Given the description of an element on the screen output the (x, y) to click on. 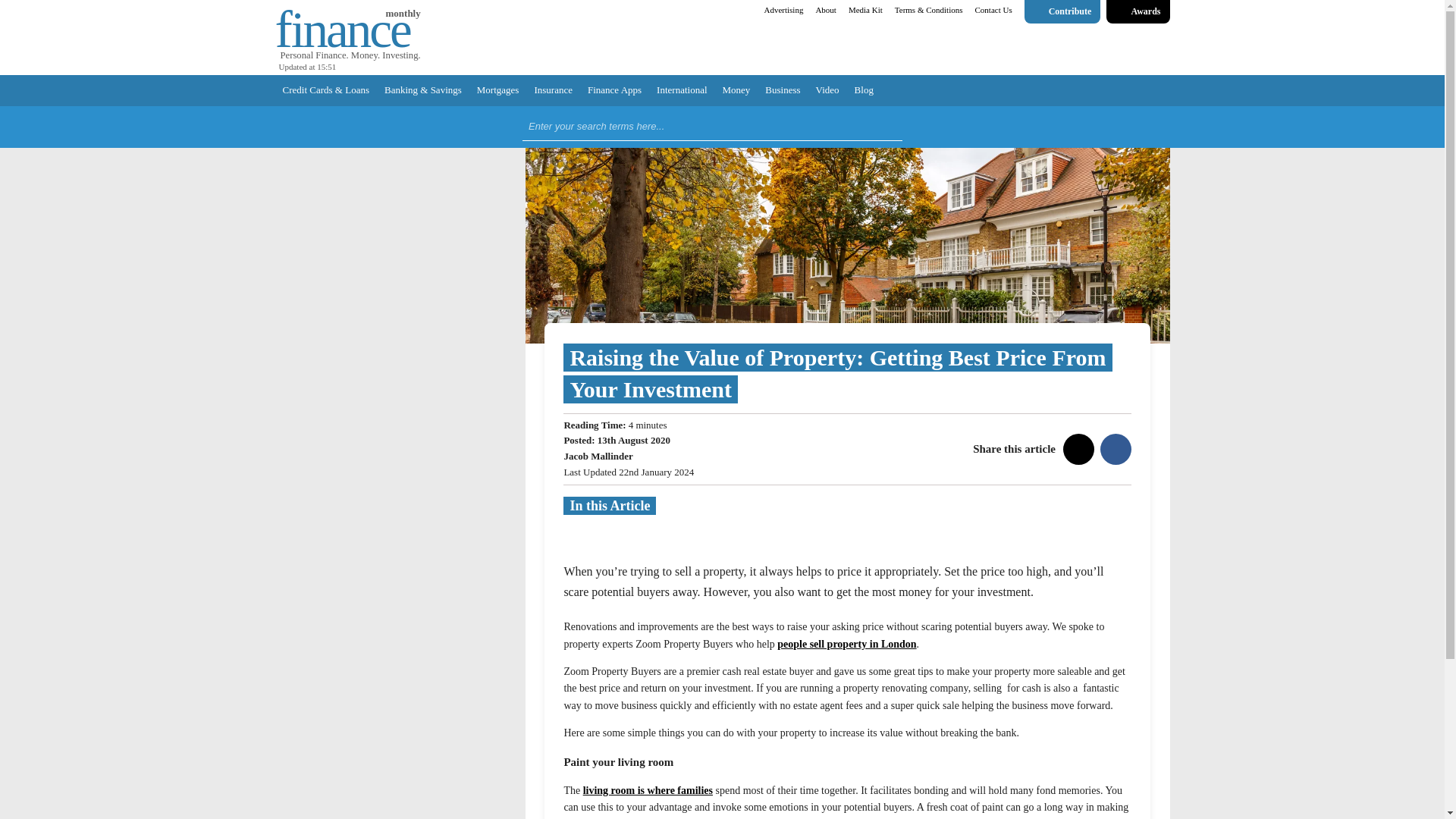
About (826, 10)
living room is where families (648, 789)
Blog (863, 90)
Mortgages (497, 90)
Business (782, 90)
Finance Apps (614, 90)
Contribute (1062, 11)
Share on Facebook (1112, 449)
International (681, 90)
